Given the description of an element on the screen output the (x, y) to click on. 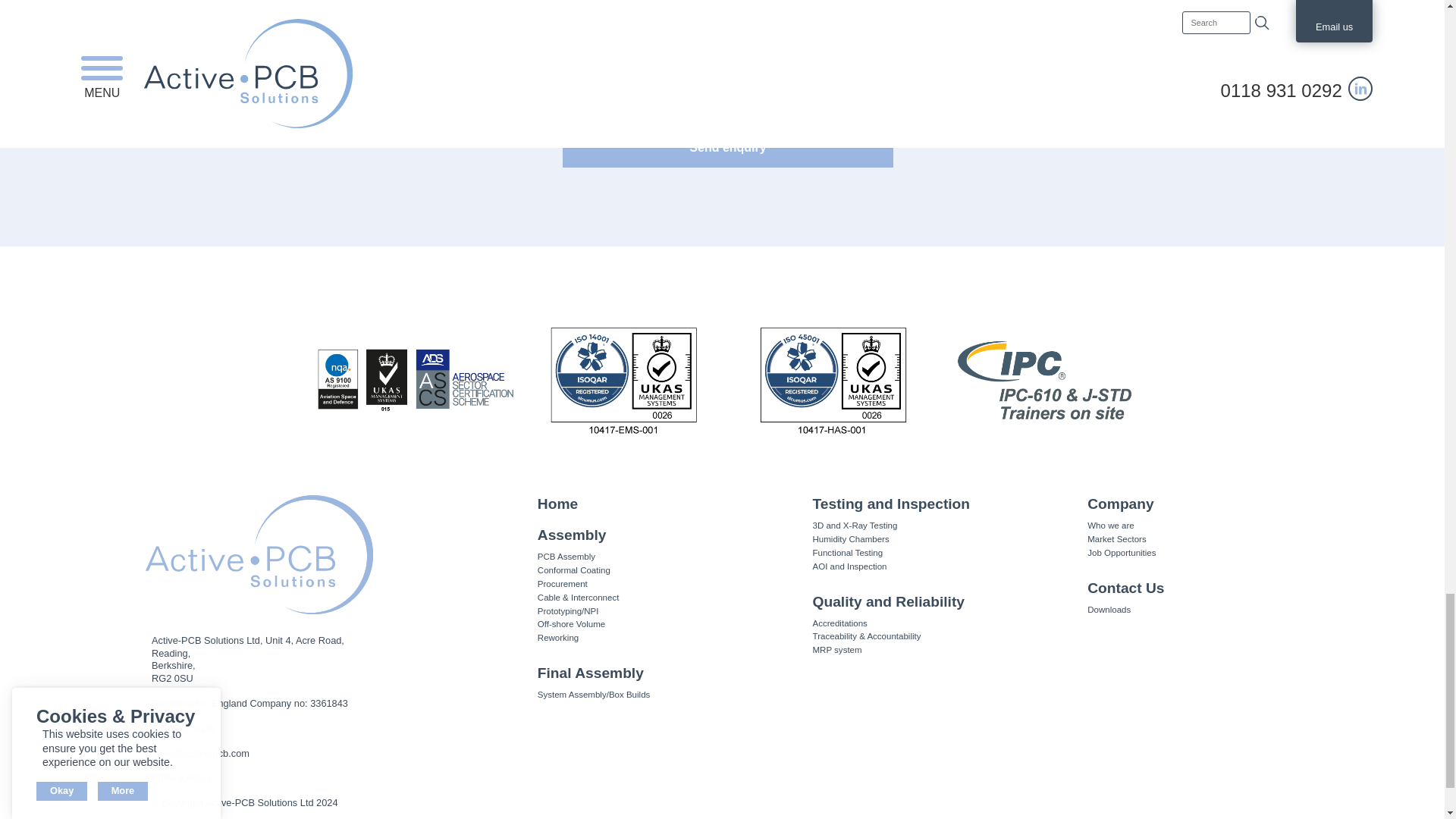
ISO14001:2015 (623, 379)
ISO 45001:2018 (831, 379)
Send enquiry (727, 147)
Send enquiry (727, 147)
Privacy Policy (181, 777)
